Given the description of an element on the screen output the (x, y) to click on. 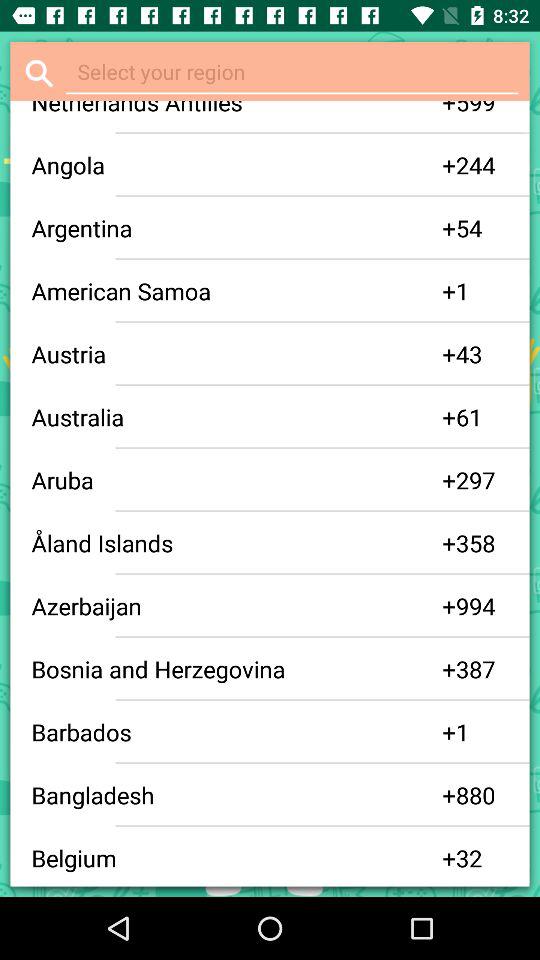
scroll until the + item (449, 480)
